Given the description of an element on the screen output the (x, y) to click on. 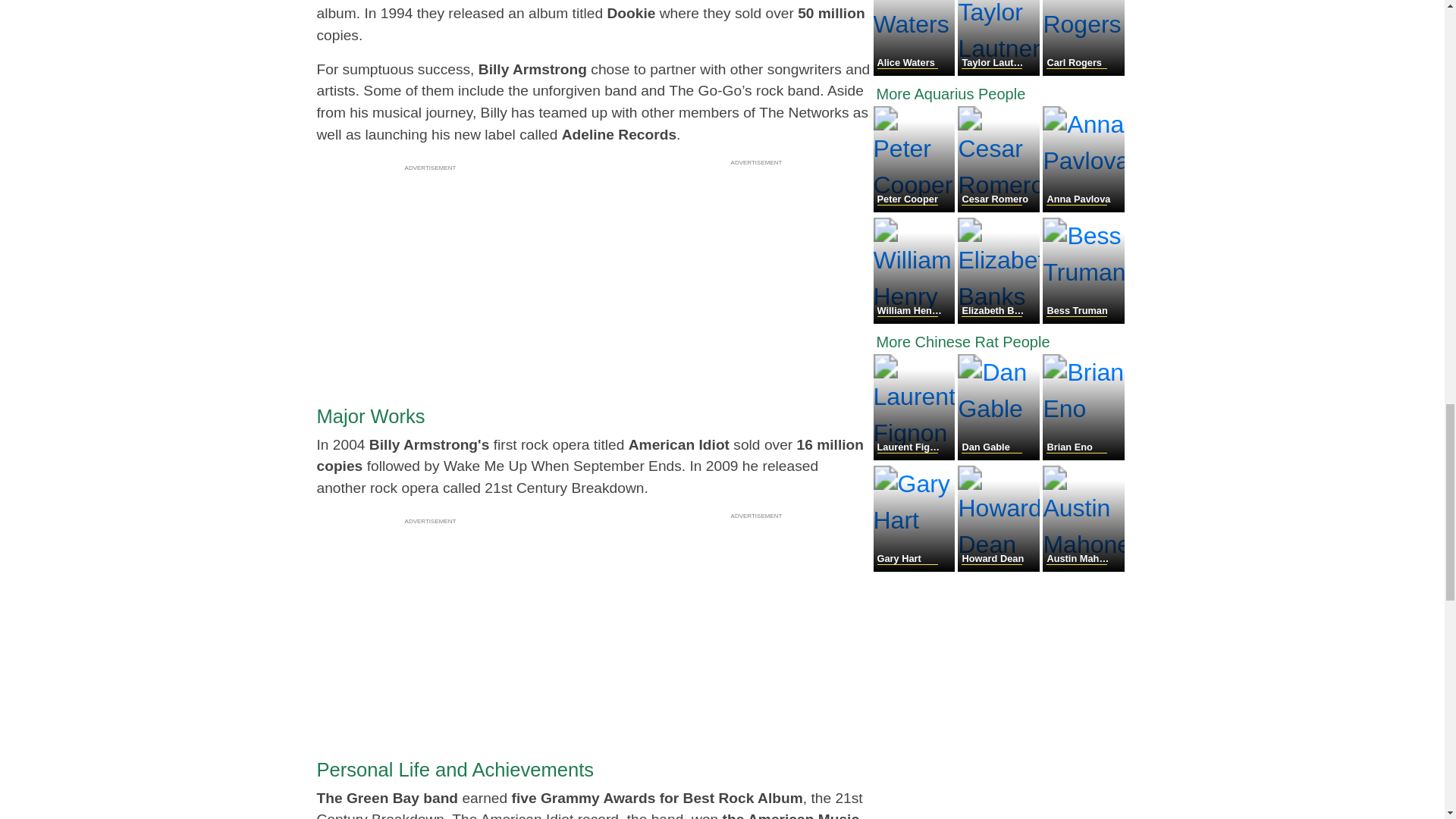
Carl Rogers (1083, 71)
Taylor Lautner (1000, 71)
Peter Cooper (915, 207)
Alice Waters (915, 71)
